Given the description of an element on the screen output the (x, y) to click on. 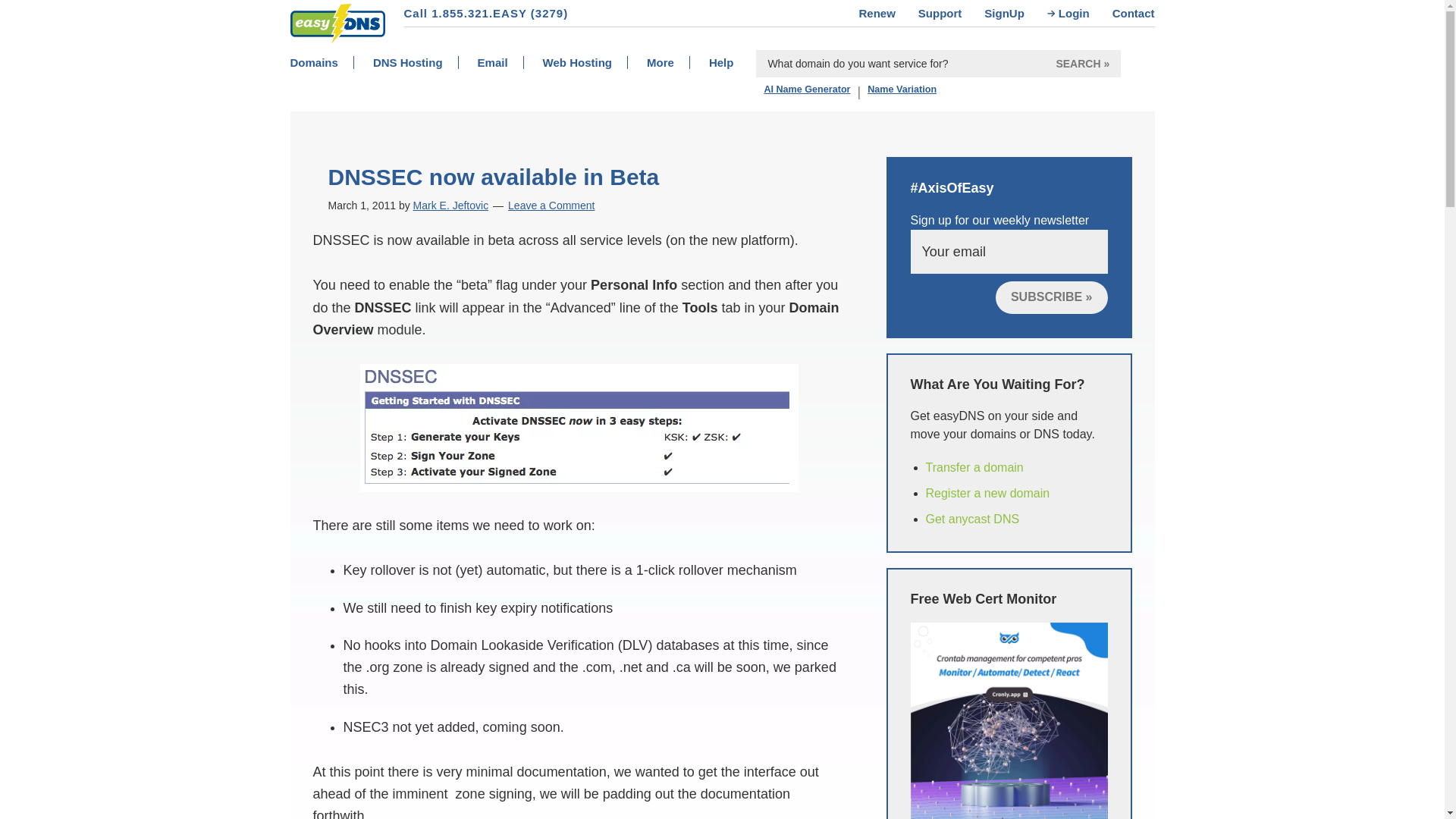
Renew (888, 13)
Login (1085, 13)
Contact (1133, 13)
Domains (328, 61)
easyDNS (322, 51)
easy DNSSEC Overview Panel (578, 427)
Support (951, 13)
SignUp (1015, 13)
DNS Hosting (423, 61)
